Given the description of an element on the screen output the (x, y) to click on. 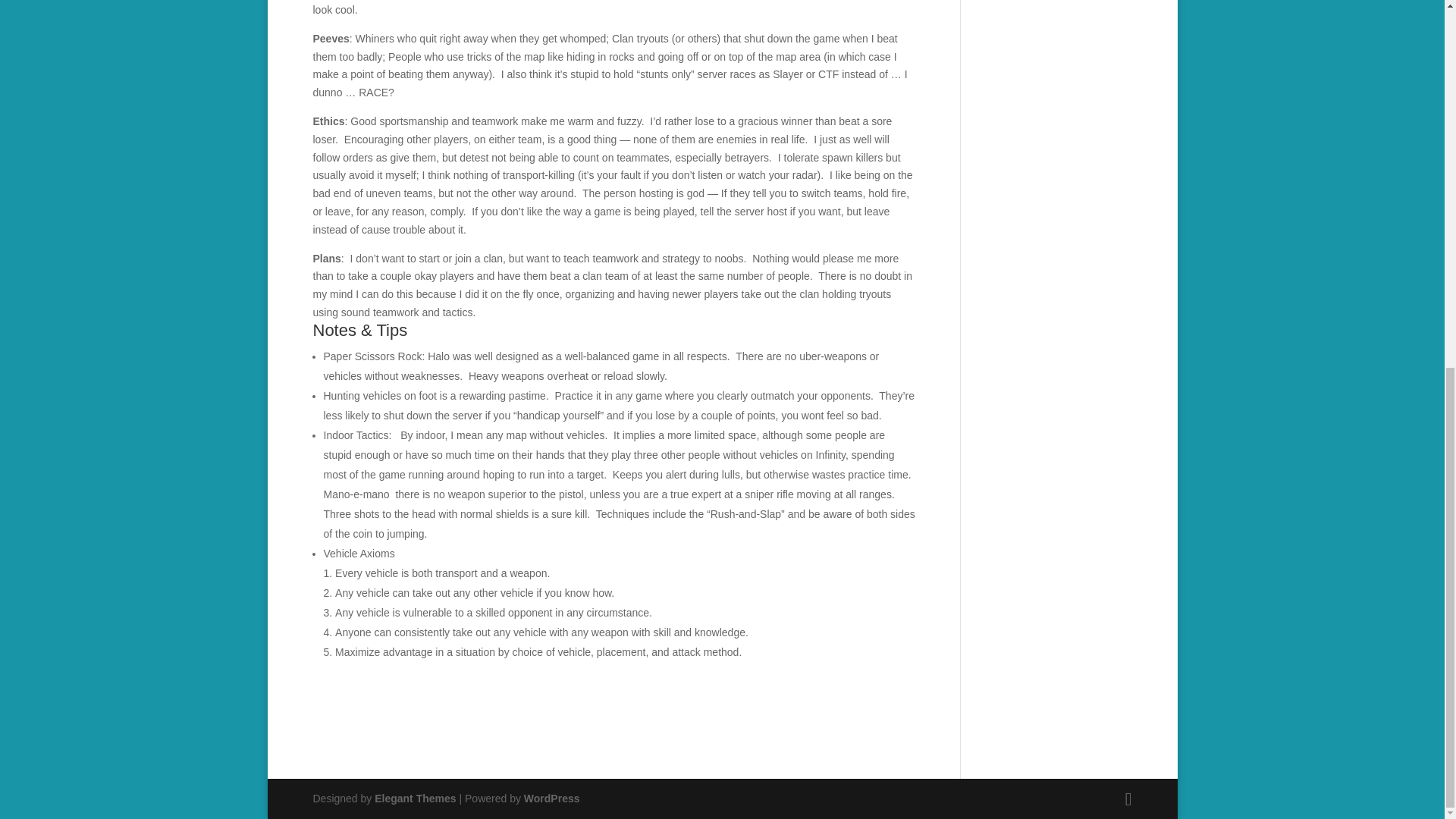
Premium WordPress Themes (414, 798)
Elegant Themes (414, 798)
WordPress (551, 798)
